Given the description of an element on the screen output the (x, y) to click on. 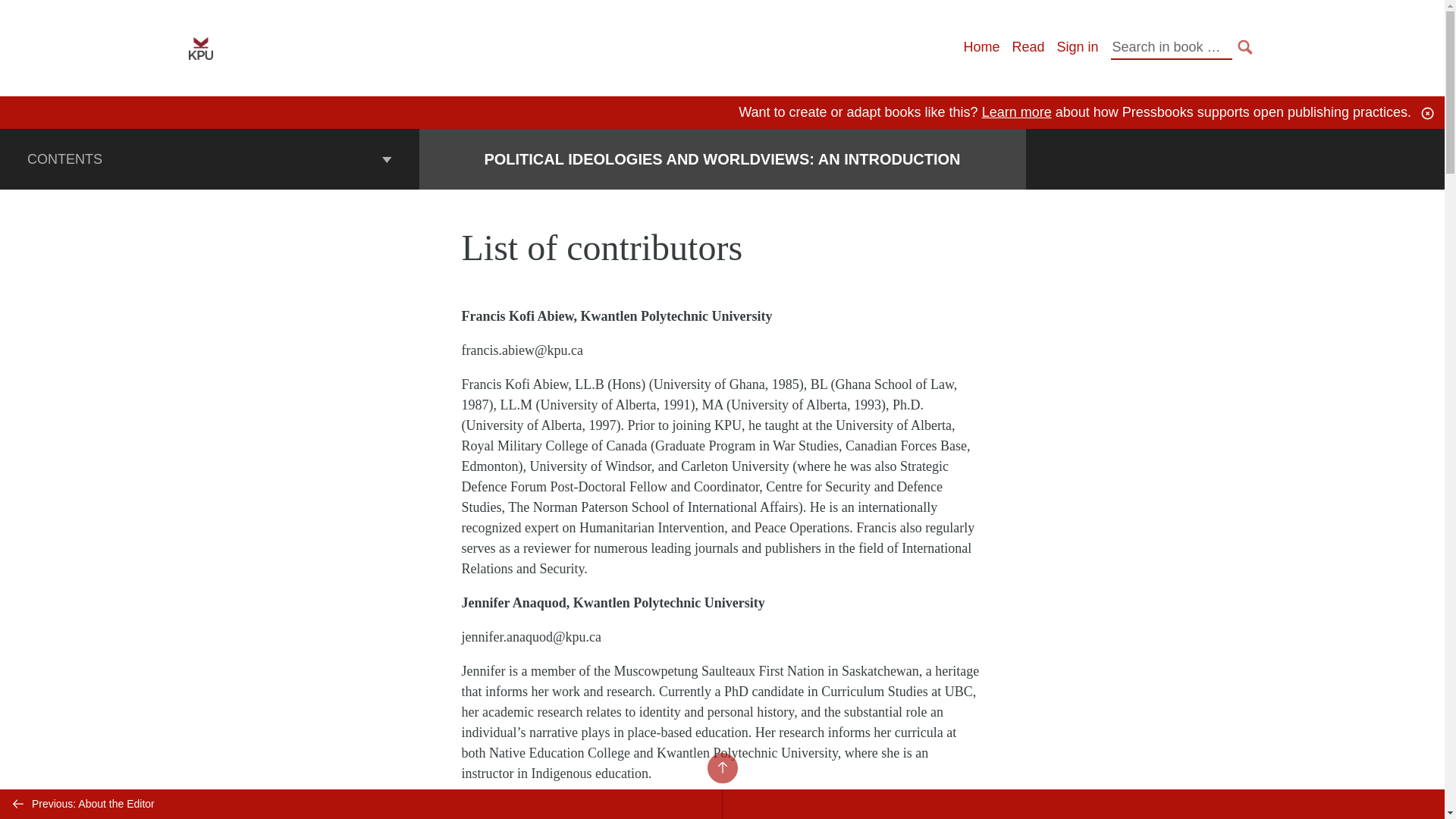
Previous: About the Editor (361, 804)
BACK TO TOP (721, 767)
Sign in (1077, 46)
CONTENTS (209, 158)
POLITICAL IDEOLOGIES AND WORLDVIEWS: AN INTRODUCTION (721, 159)
Learn more (1016, 111)
Home (980, 46)
Previous: About the Editor (361, 804)
SEARCH (1244, 47)
Read (1027, 46)
